Given the description of an element on the screen output the (x, y) to click on. 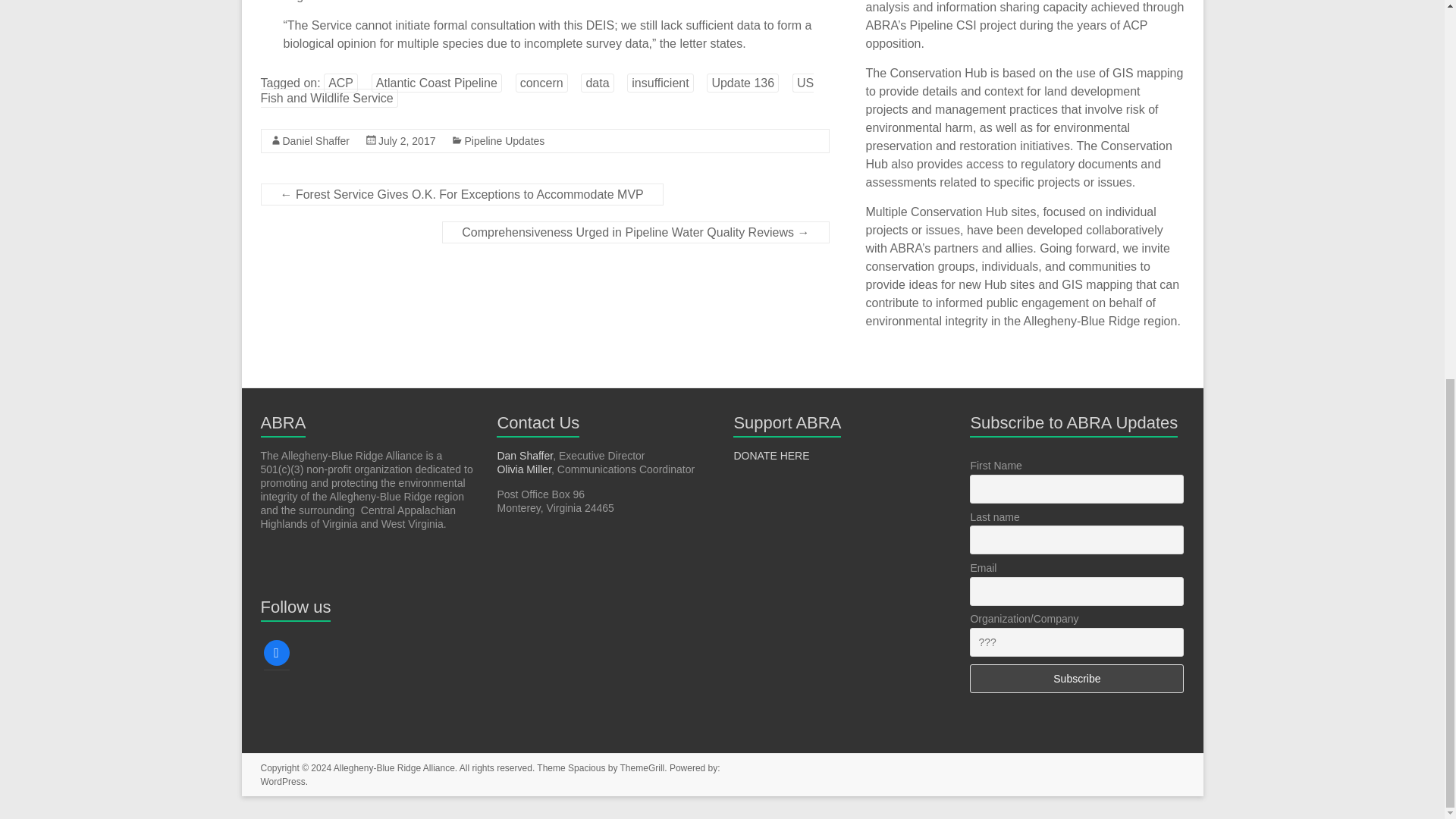
July 2, 2017 (406, 141)
Update 136 (742, 82)
facebook (276, 652)
insufficient (660, 82)
Facebook (276, 652)
DONATE HERE (771, 455)
Spacious (586, 767)
Subscribe (1076, 678)
Subscribe (1076, 678)
Atlantic Coast Pipeline (436, 82)
